Given the description of an element on the screen output the (x, y) to click on. 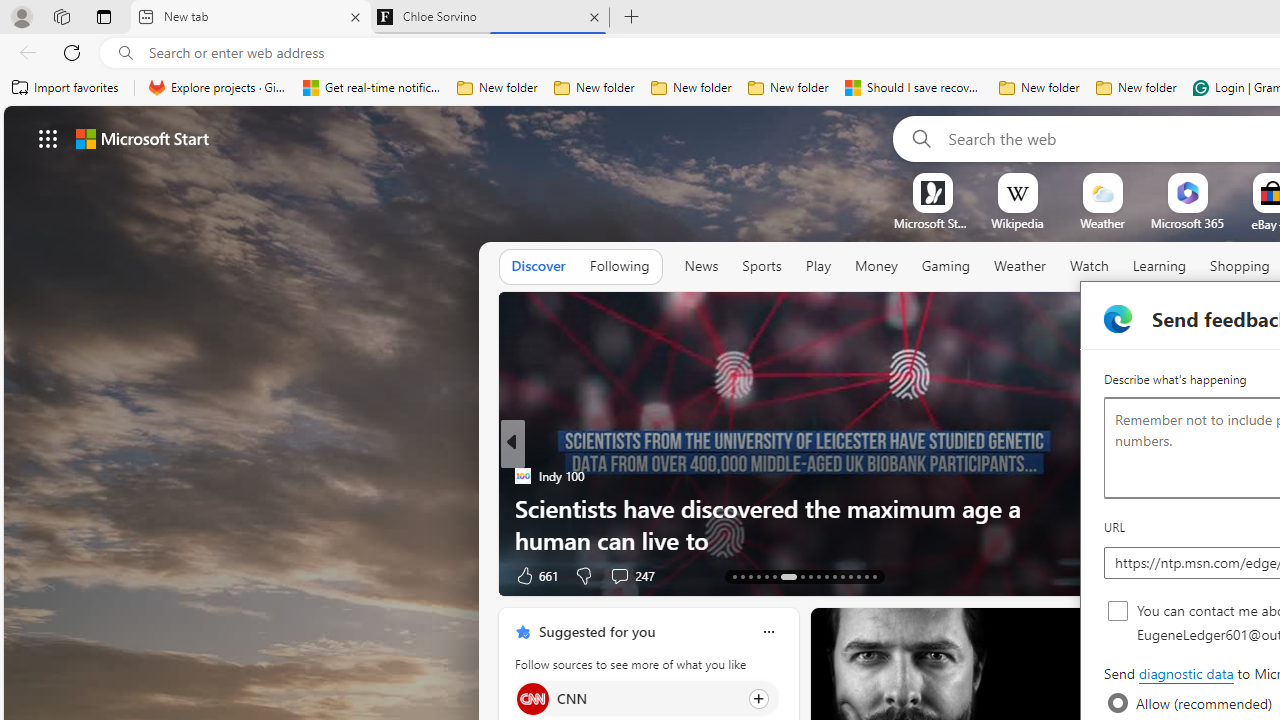
Microsoft start (142, 138)
diagnostic data (1185, 673)
Chloe Sorvino (490, 17)
